Given the description of an element on the screen output the (x, y) to click on. 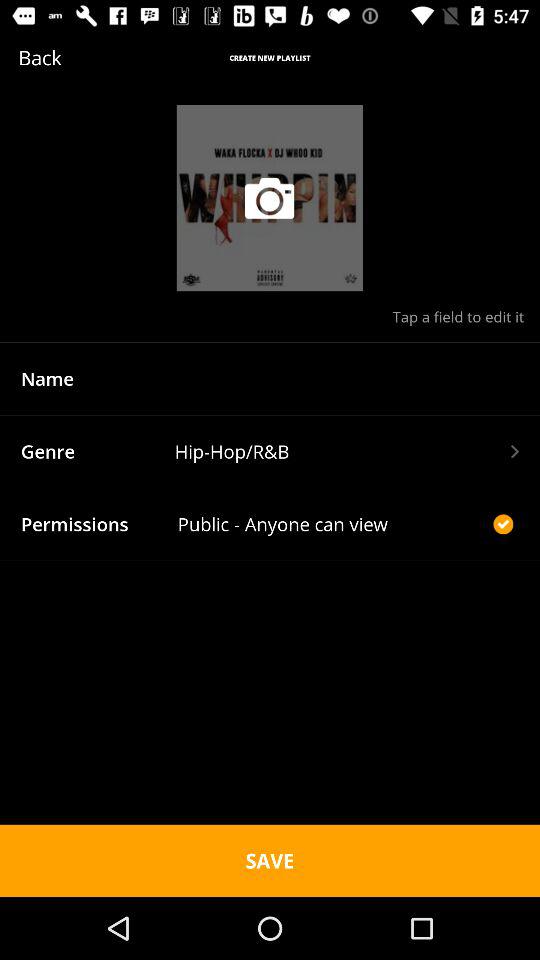
turn off the save item (270, 860)
